Given the description of an element on the screen output the (x, y) to click on. 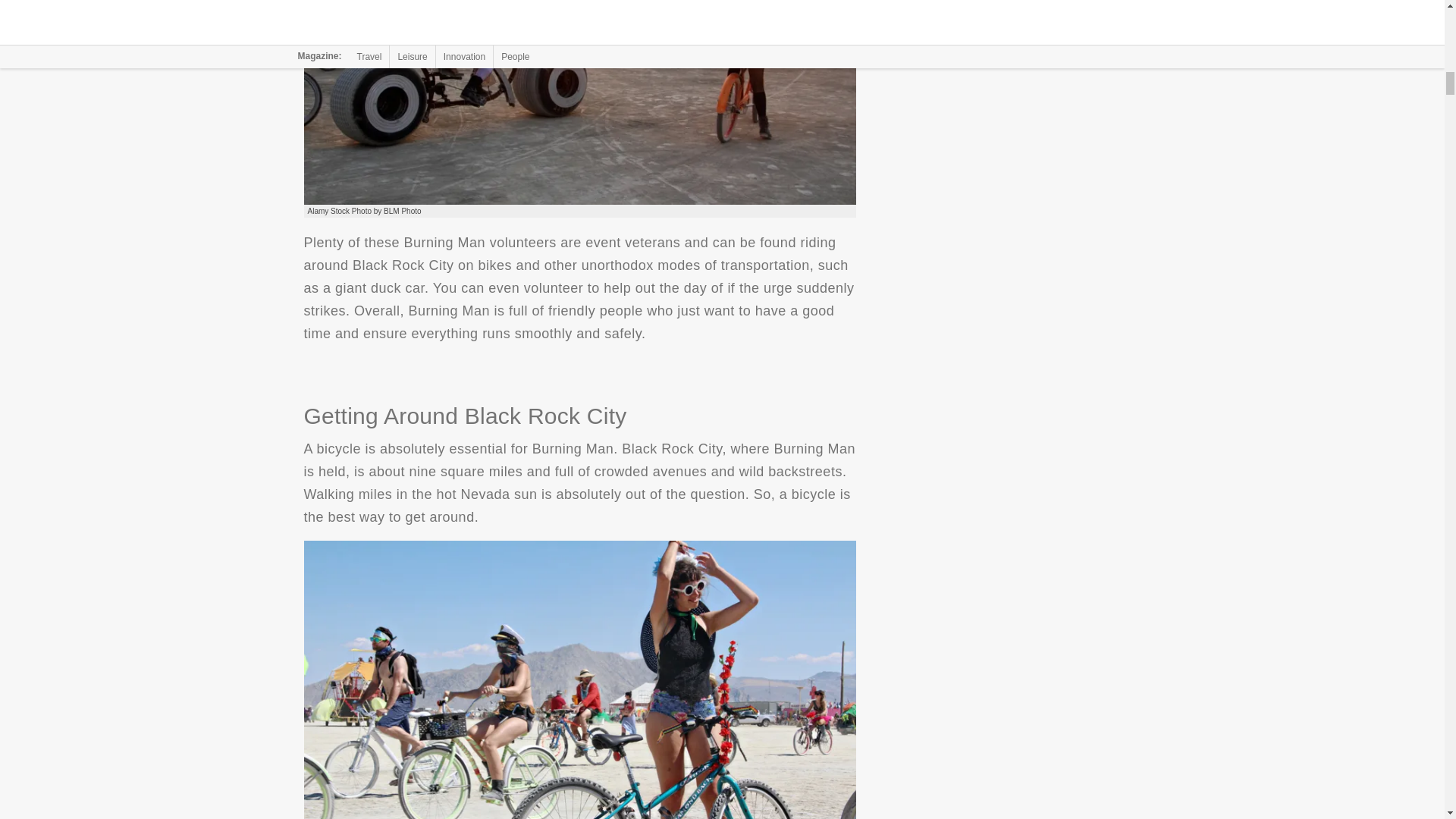
Organized Chaos (579, 102)
